Given the description of an element on the screen output the (x, y) to click on. 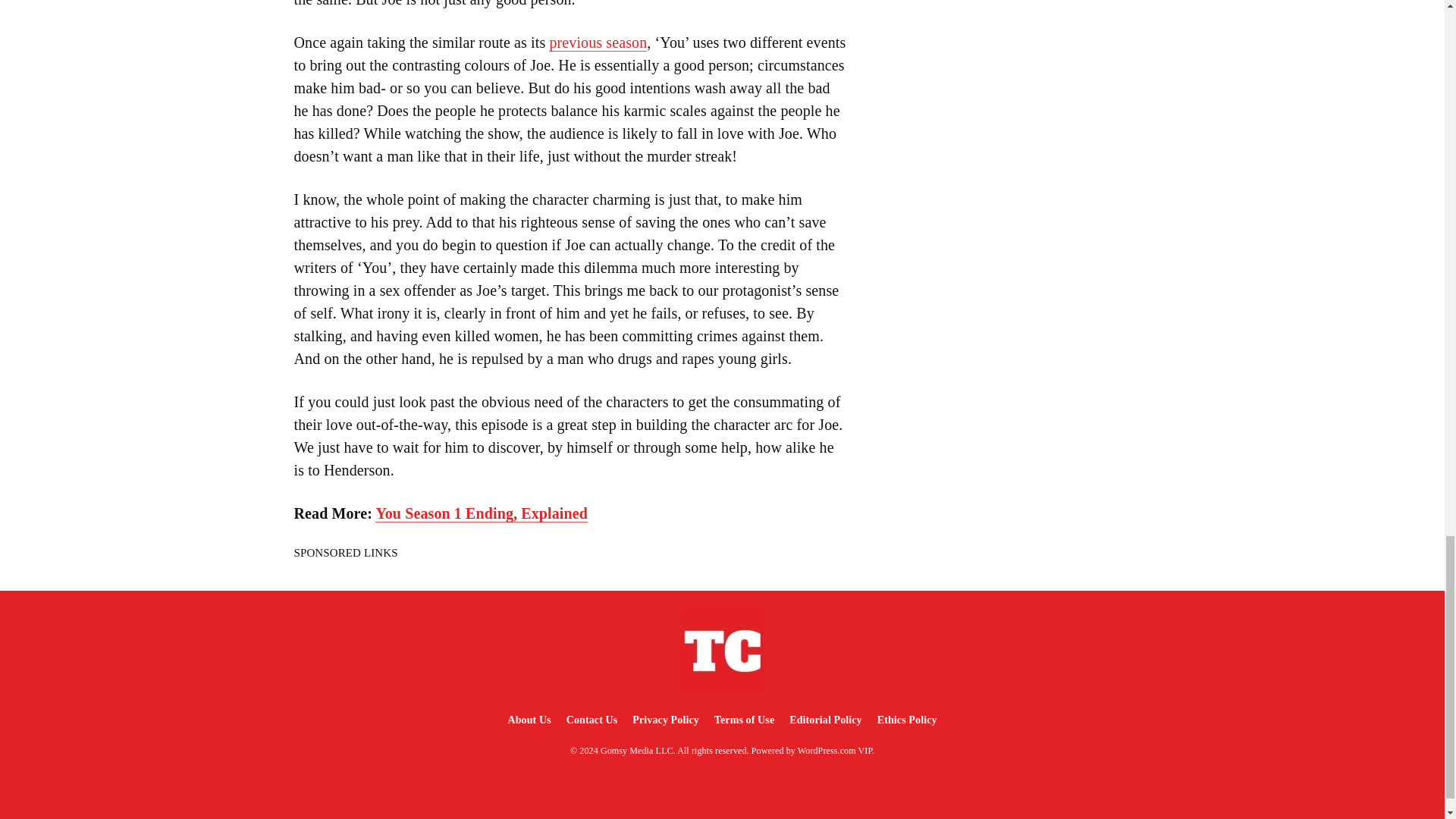
Privacy Policy (665, 719)
You Season 1 Ending, Explained (481, 513)
previous season (597, 42)
WordPress.com VIP (834, 750)
Terms of Use (743, 719)
Contact Us (592, 719)
Ethics Policy (906, 719)
Editorial Policy (825, 719)
About Us (528, 719)
